Given the description of an element on the screen output the (x, y) to click on. 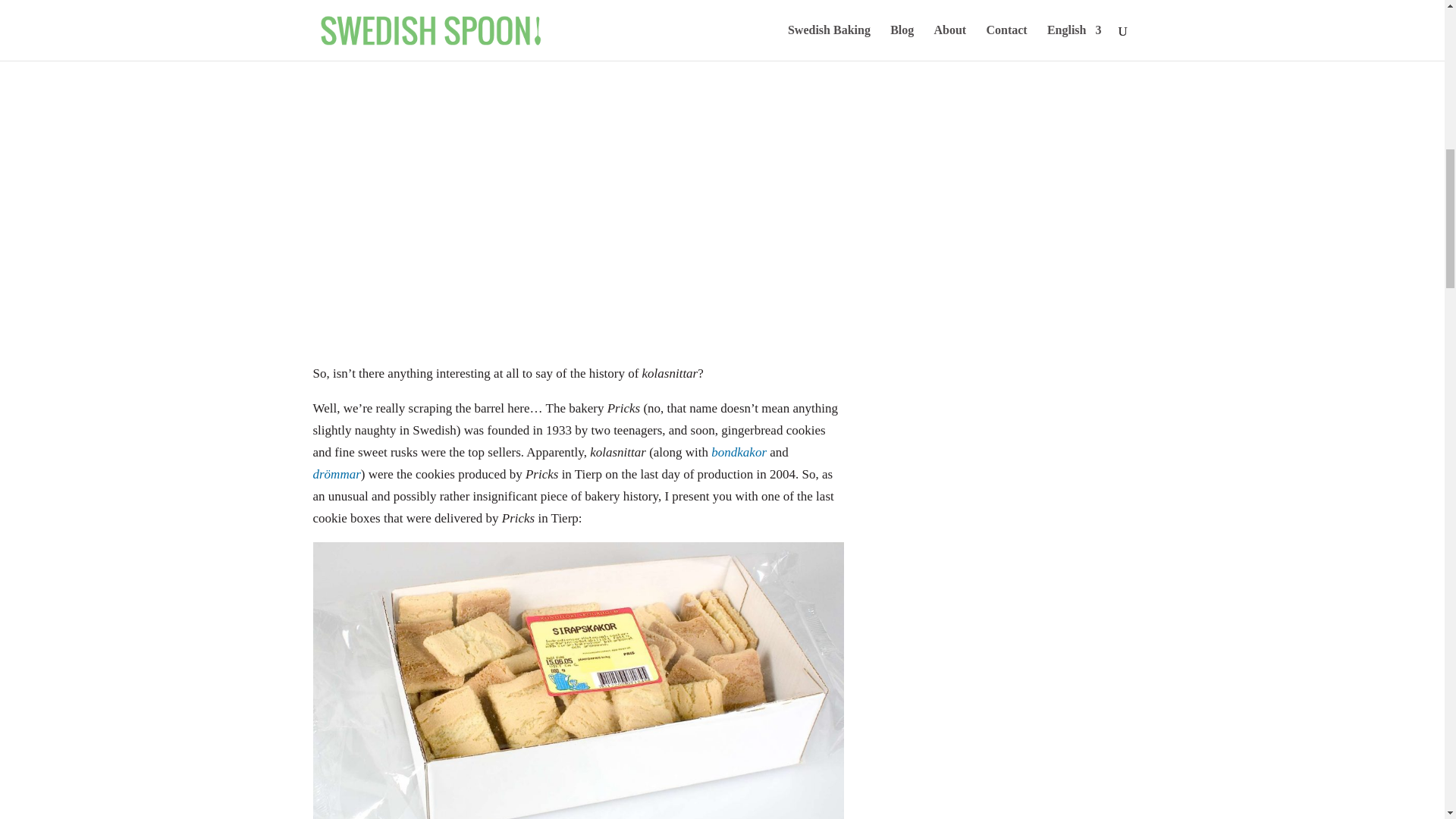
Follow on Instagram (964, 41)
bondkakor (739, 452)
Follow on Pinterest (1055, 41)
Follow on Facebook (1024, 41)
Follow on Youtube (994, 41)
